Given the description of an element on the screen output the (x, y) to click on. 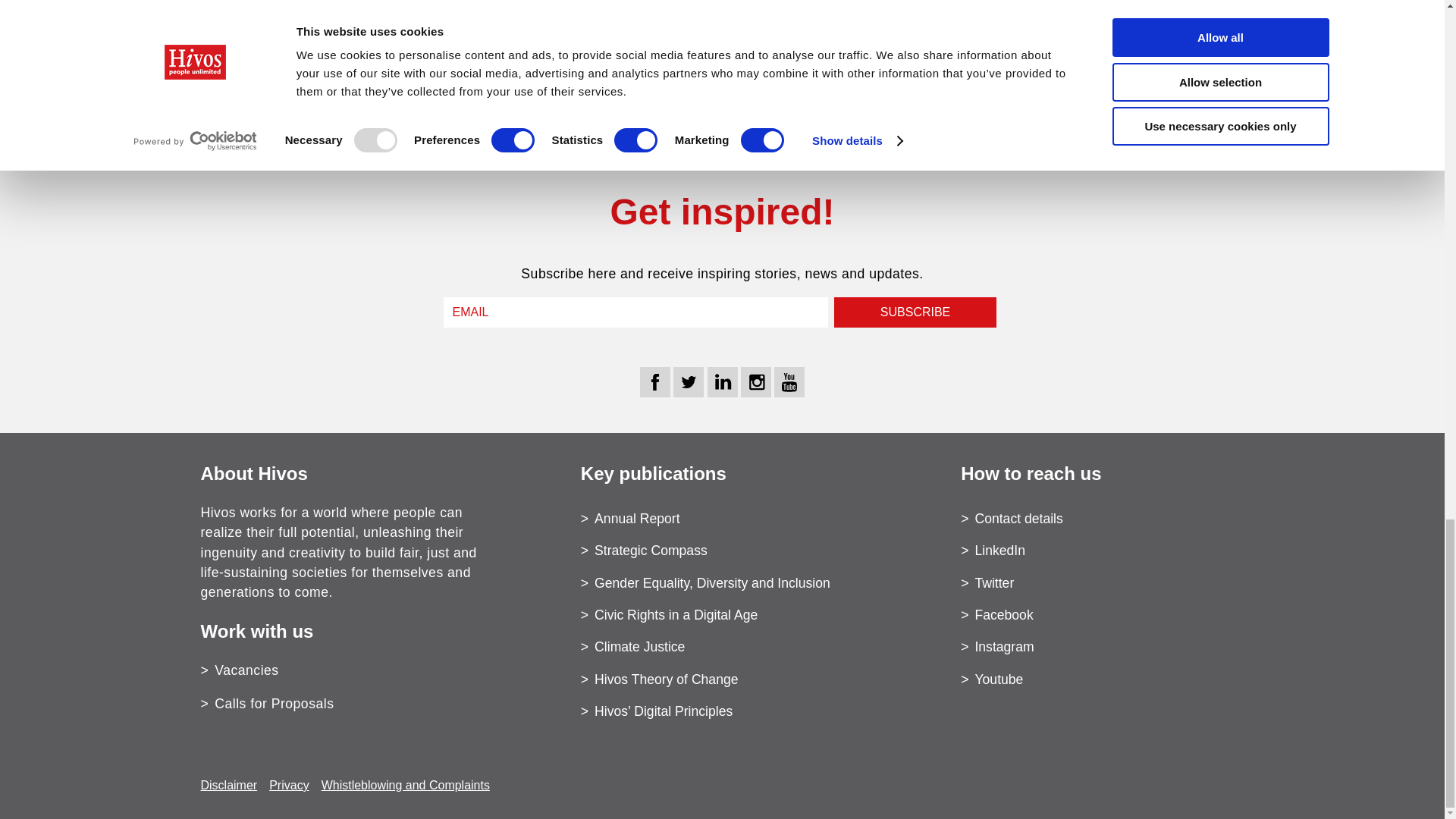
Subscribe (914, 312)
